Given the description of an element on the screen output the (x, y) to click on. 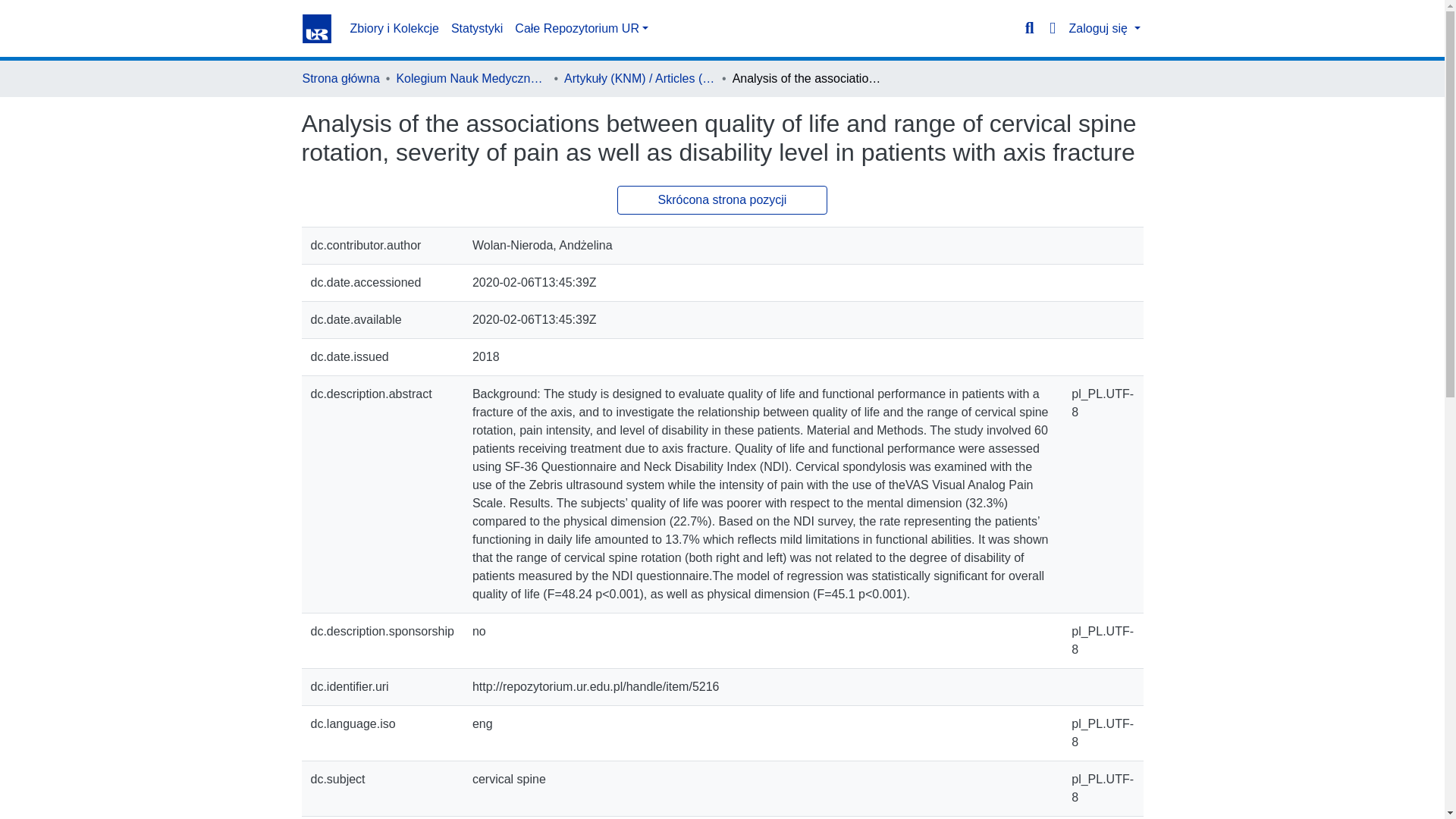
Zbiory i Kolekcje (394, 28)
Statystyki (476, 28)
Szukaj (1029, 28)
Zbiory i Kolekcje (394, 28)
Statystyki (476, 28)
